Given the description of an element on the screen output the (x, y) to click on. 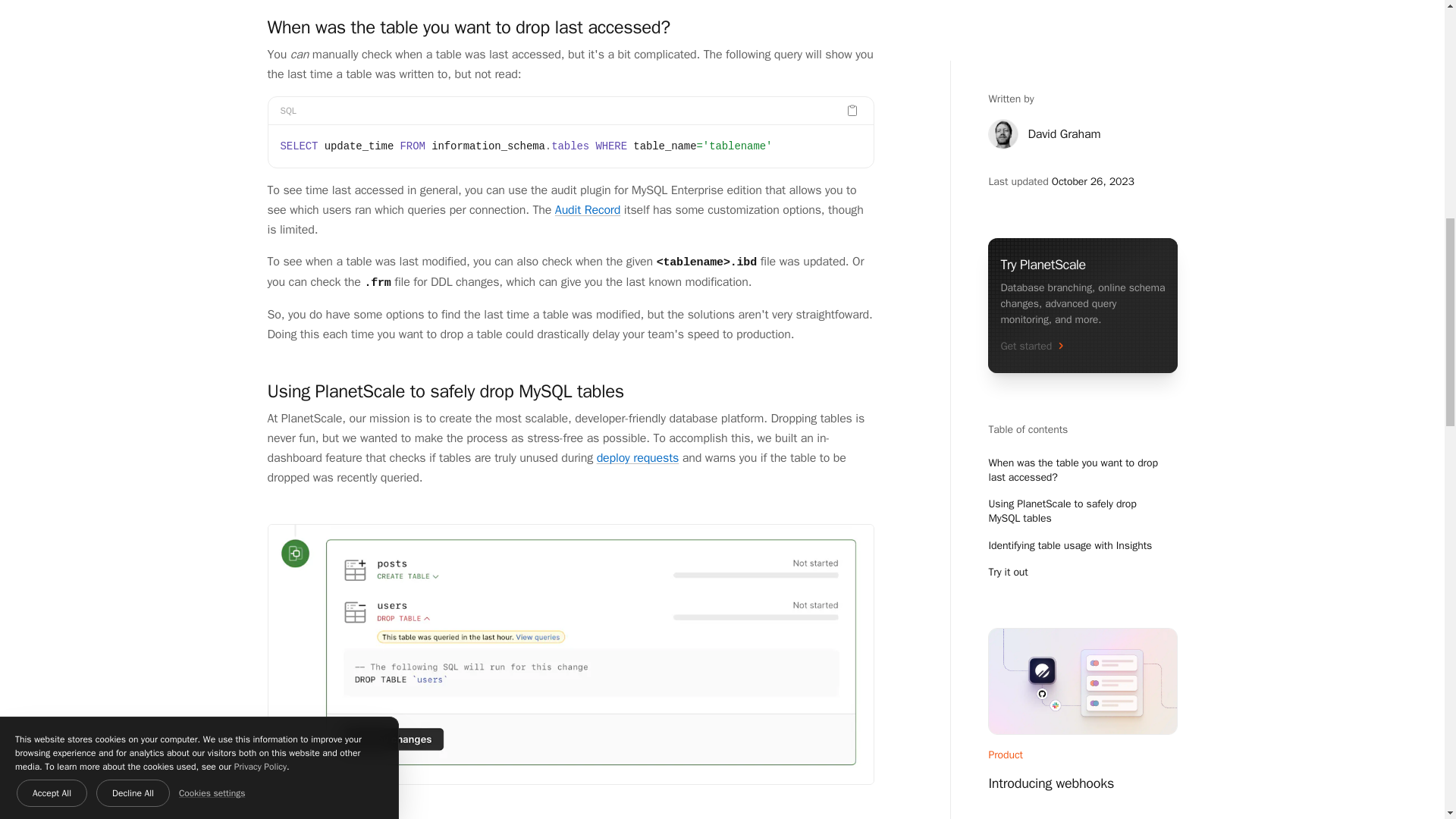
deploy requests (637, 458)
When was the table you want to drop last accessed? (467, 26)
Using PlanetScale to safely drop MySQL tables (444, 391)
Audit Record (587, 209)
